Given the description of an element on the screen output the (x, y) to click on. 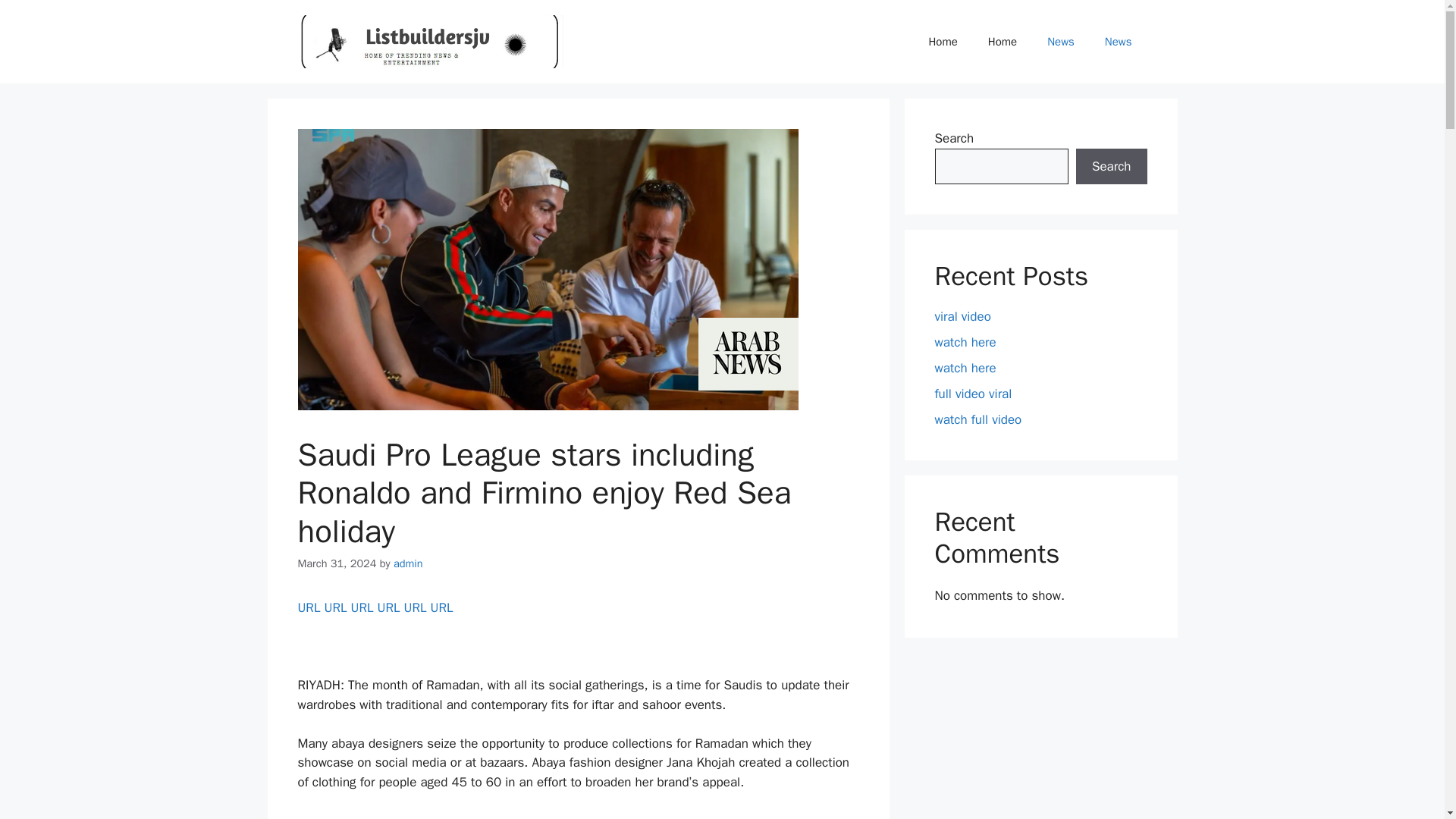
News (1060, 41)
watch here (964, 367)
URL (415, 607)
Search (1111, 166)
admin (408, 563)
News (1118, 41)
watch full video (978, 419)
viral video (962, 316)
URL (362, 607)
URL (441, 607)
URL (335, 607)
Home (1002, 41)
full video viral (972, 393)
Home (942, 41)
watch here (964, 342)
